Given the description of an element on the screen output the (x, y) to click on. 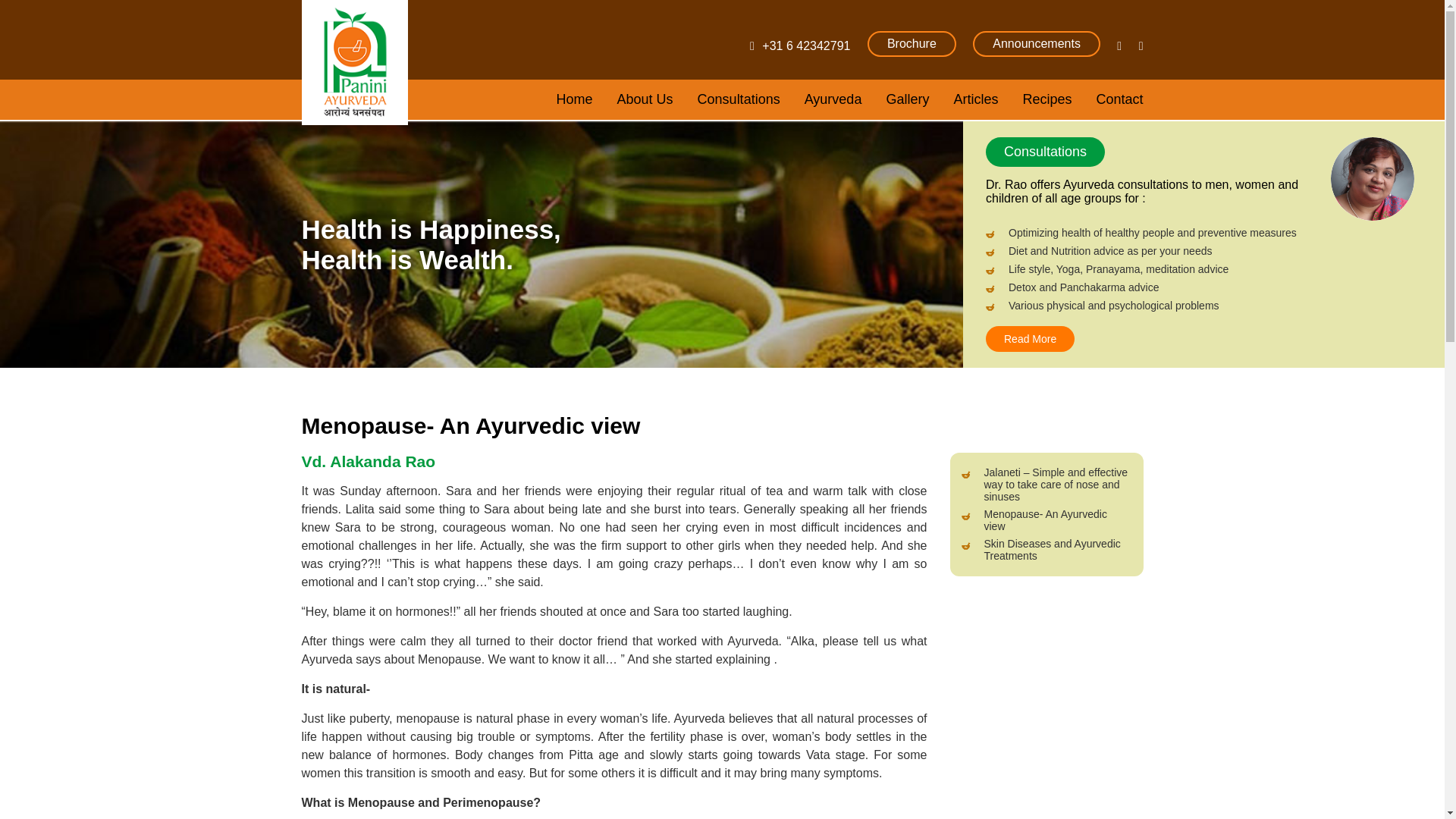
About Us (644, 99)
Optimizing health of healthy people and preventive measures (1214, 232)
Read More (1029, 338)
Skin Diseases and Ayurvedic Treatments (1056, 549)
Life style, Yoga, Pranayama, meditation advice (1214, 268)
Announcements (1036, 43)
Recipes (1046, 99)
Articles (975, 99)
Gallery (906, 99)
Contact (1119, 99)
Home (574, 99)
Consultations (1045, 152)
Various physical and psychological problems (1214, 305)
Consultations (738, 99)
Detox and Panchakarma advice (1214, 287)
